Given the description of an element on the screen output the (x, y) to click on. 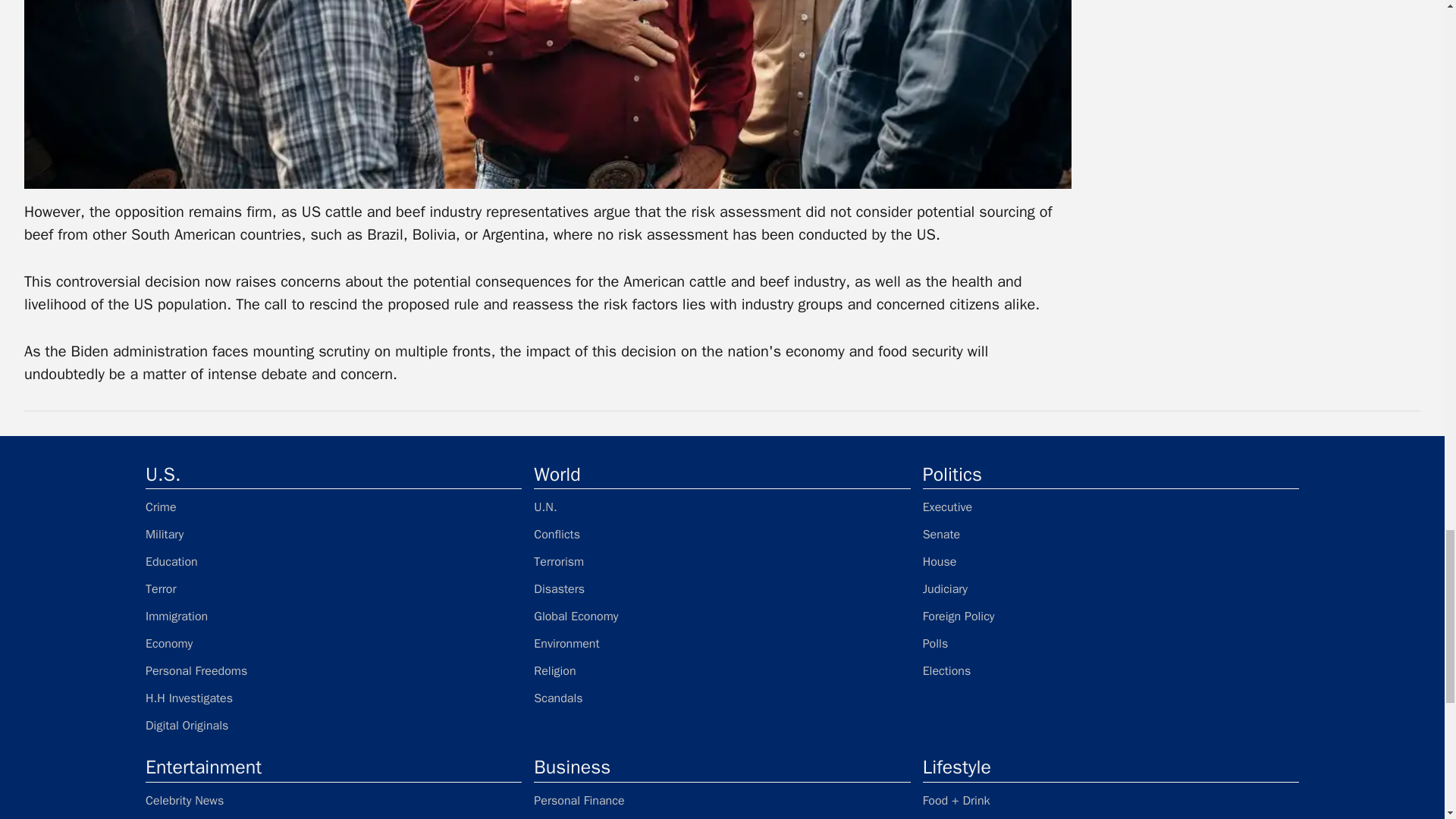
Scandals (722, 698)
Terrorism (722, 561)
Politics (1110, 474)
World (722, 474)
Personal Freedoms (333, 671)
Immigration (333, 616)
Economy (333, 643)
Global Economy (722, 616)
H.H Investigates (333, 698)
Conflicts (722, 534)
Education (333, 561)
Disasters (722, 589)
Executive (1110, 507)
U.N. (722, 507)
U.S. (333, 474)
